Given the description of an element on the screen output the (x, y) to click on. 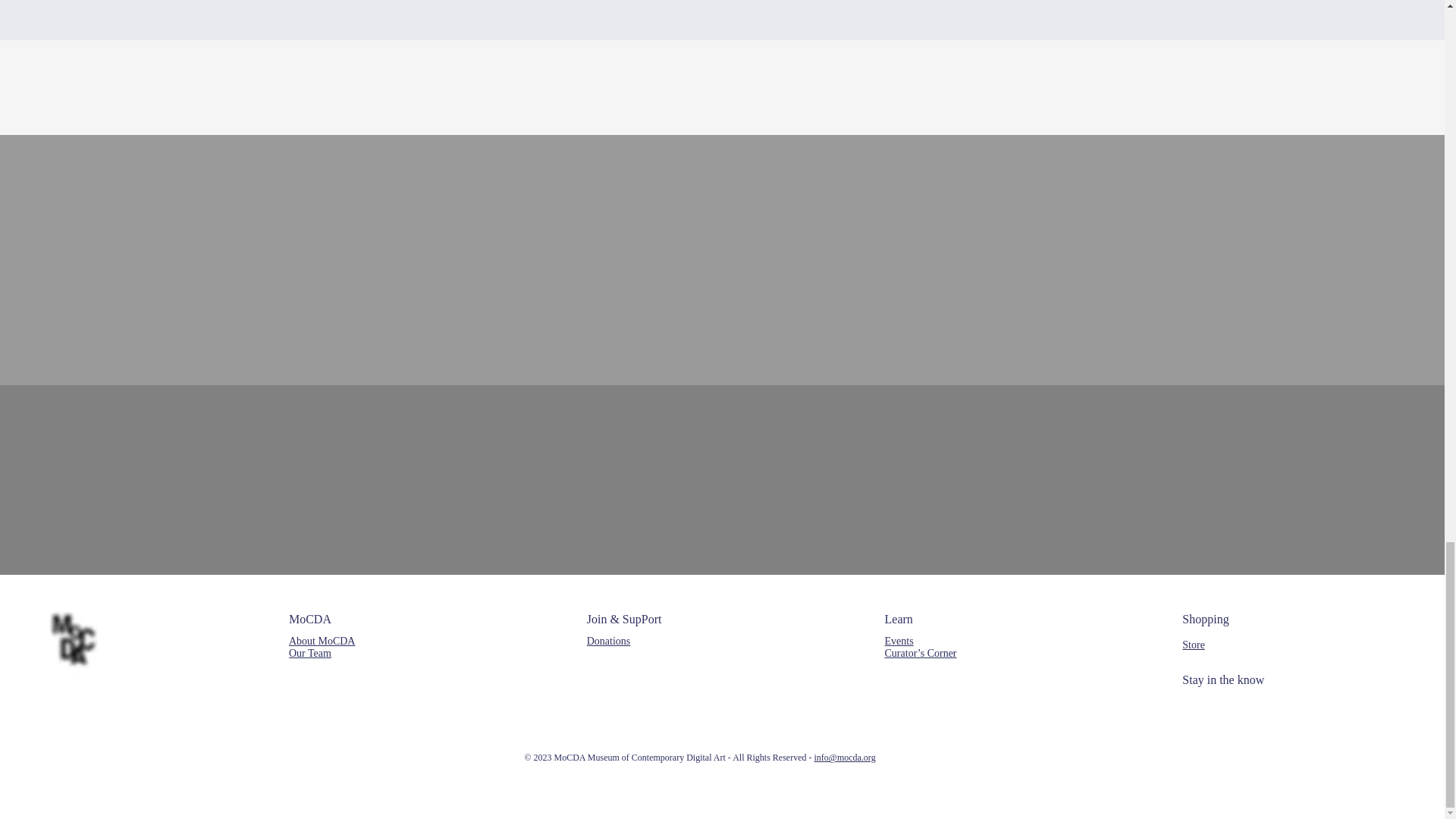
About MoCDA (321, 641)
Our Team (309, 653)
Donations (608, 641)
Store (1193, 644)
Events (899, 641)
